Given the description of an element on the screen output the (x, y) to click on. 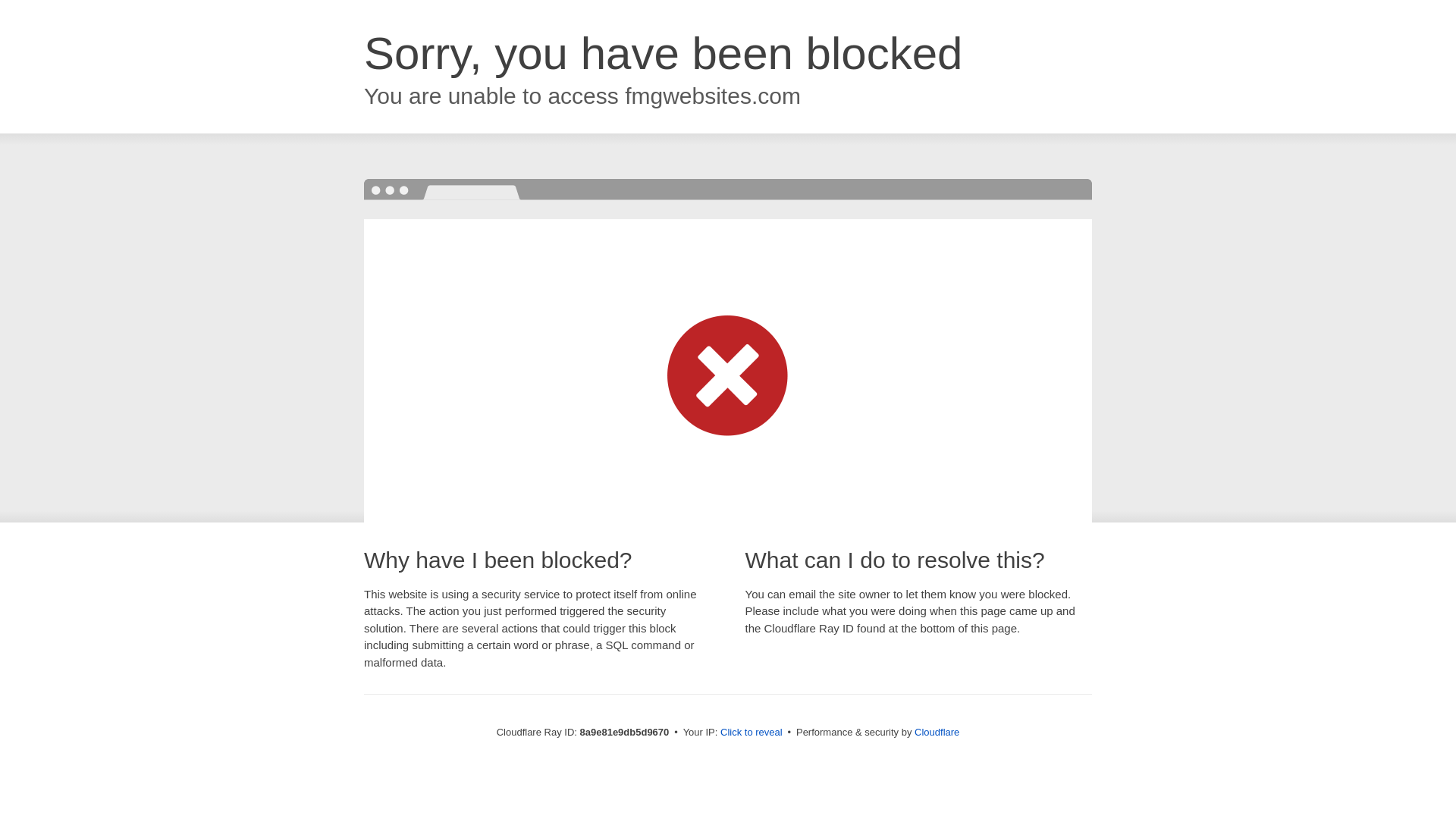
Cloudflare (936, 731)
Click to reveal (751, 732)
